Given the description of an element on the screen output the (x, y) to click on. 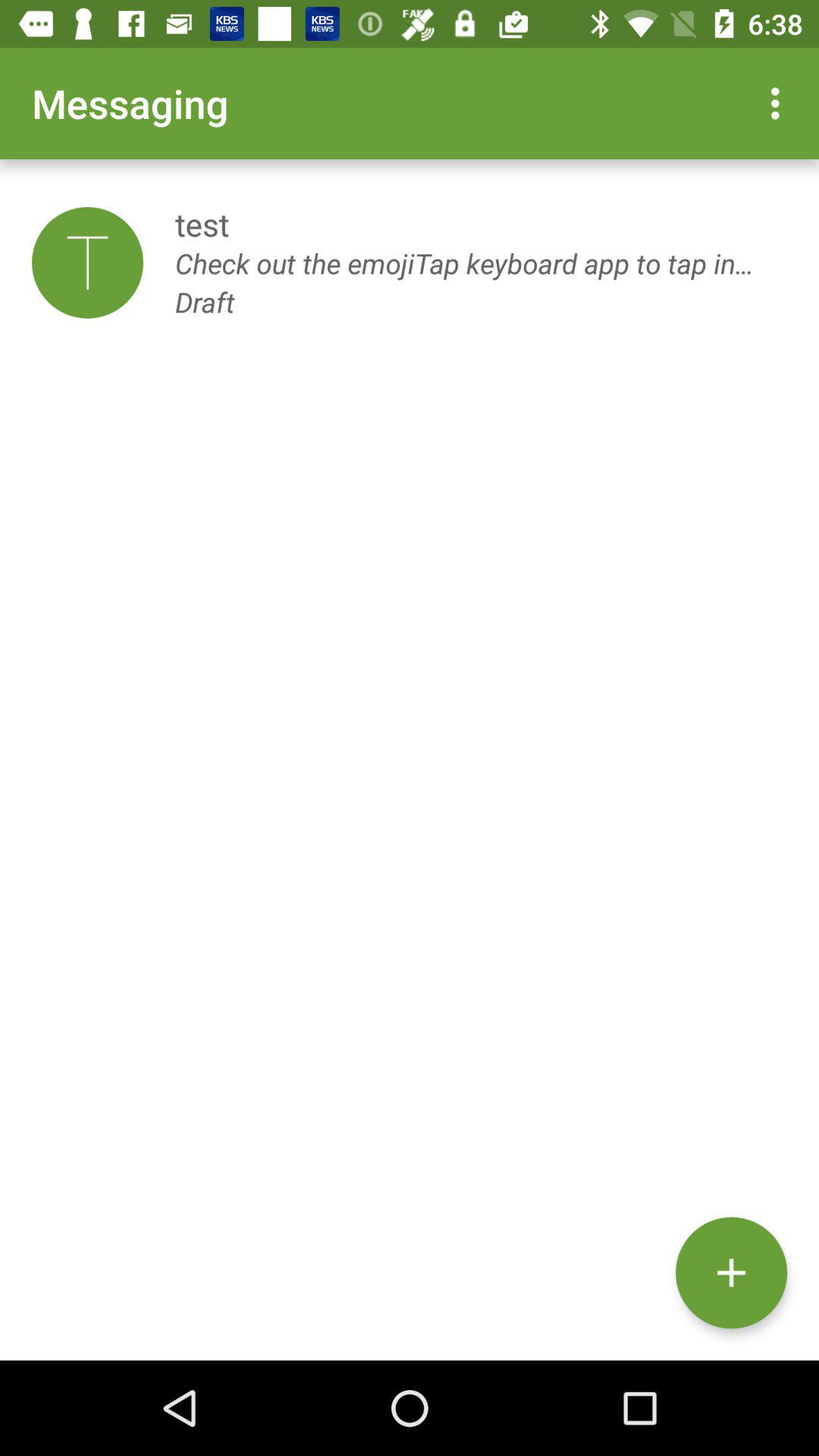
launch item at the top right corner (779, 103)
